Given the description of an element on the screen output the (x, y) to click on. 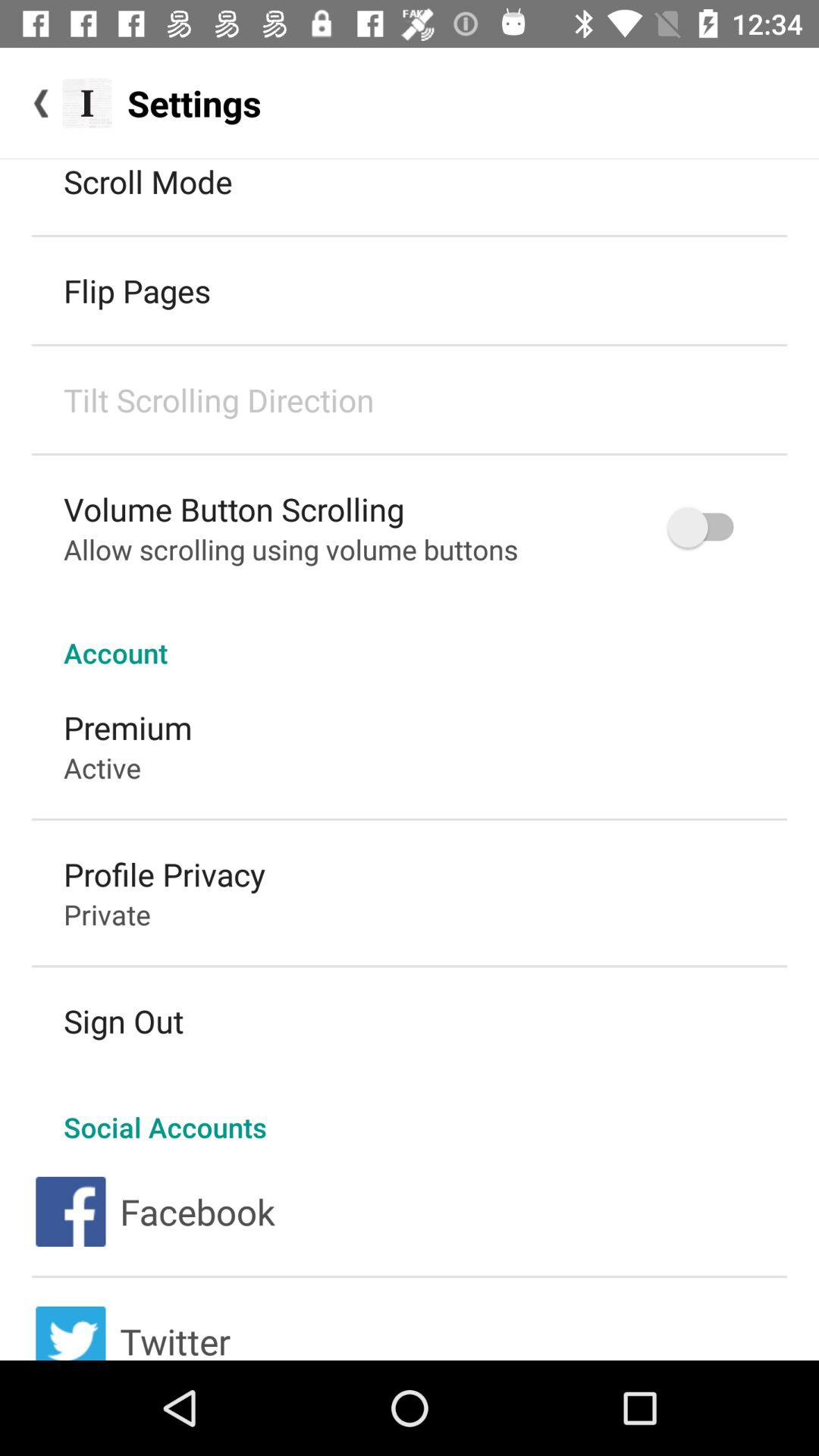
turn off the social accounts item (409, 1111)
